Given the description of an element on the screen output the (x, y) to click on. 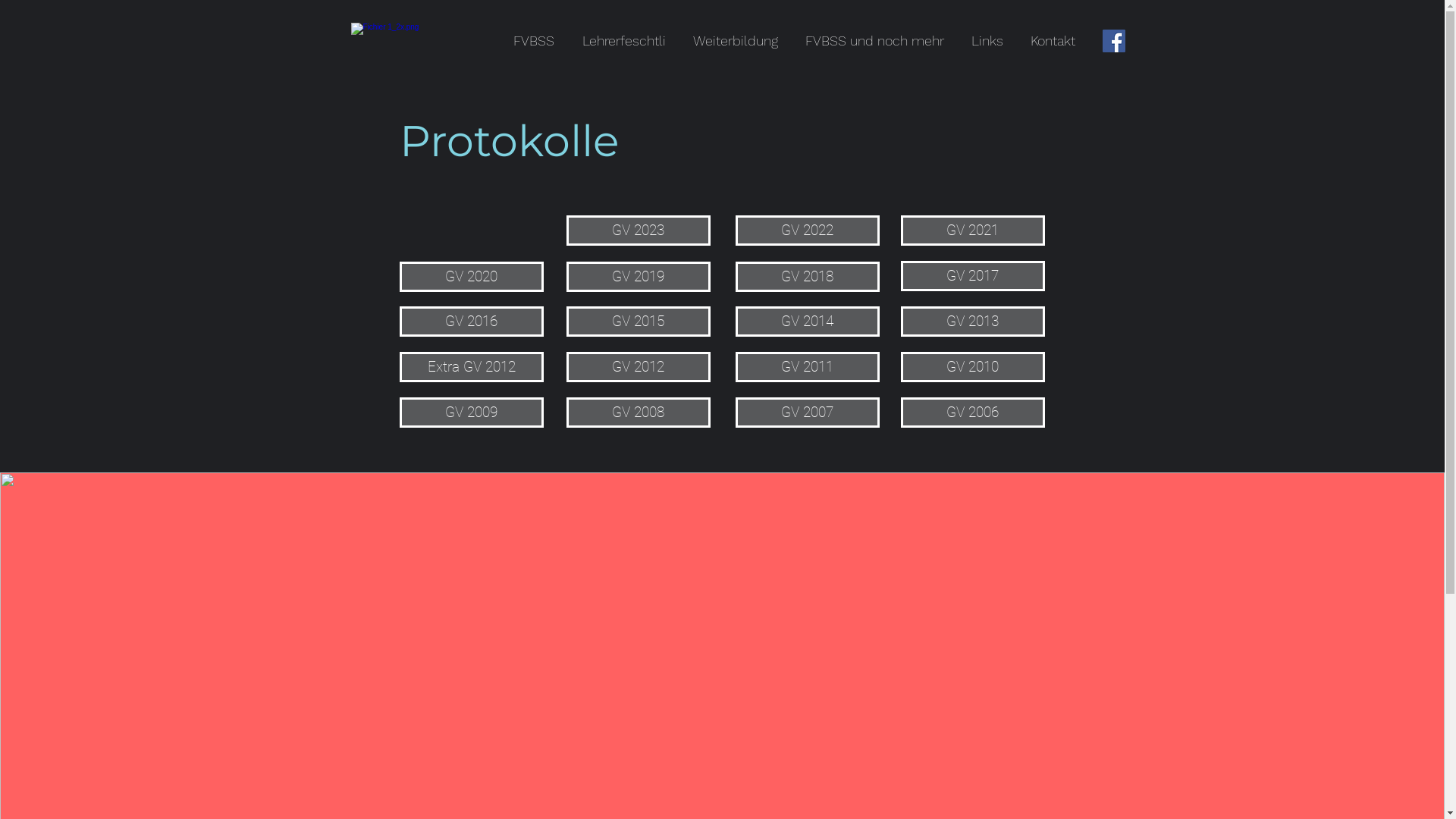
Links Element type: text (986, 40)
GV 2014 Element type: text (807, 321)
GV 2017 Element type: text (972, 275)
GV 2015 Element type: text (637, 321)
GV 2013 Element type: text (972, 321)
GV 2022 Element type: text (807, 230)
Kontakt Element type: text (1052, 40)
GV 2019 Element type: text (637, 276)
Weiterbildung Element type: text (735, 40)
GV 2007 Element type: text (807, 412)
GV 2008 Element type: text (637, 412)
GV 2006 Element type: text (972, 412)
GV 2021 Element type: text (972, 230)
GV 2011 Element type: text (807, 366)
Extra GV 2012 Element type: text (470, 366)
GV 2023 Element type: text (637, 230)
GV 2009 Element type: text (470, 412)
GV 2018 Element type: text (807, 276)
GV 2010 Element type: text (972, 366)
GV 2020 Element type: text (470, 276)
GV 2016 Element type: text (470, 321)
GV 2012 Element type: text (637, 366)
Lehrerfeschtli Element type: text (623, 40)
